Given the description of an element on the screen output the (x, y) to click on. 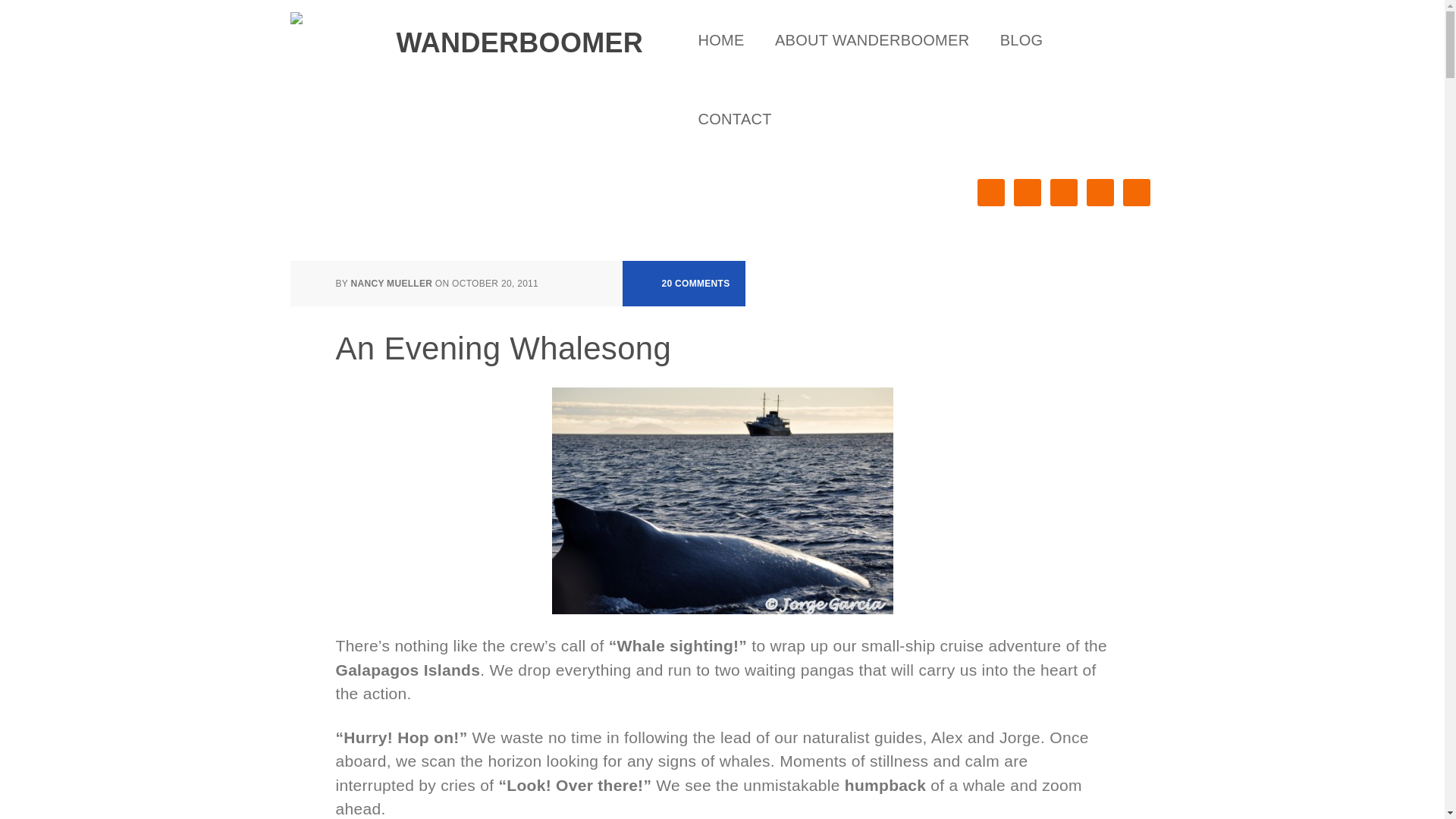
HOME (720, 39)
CONTACT (734, 118)
WANDERBOOMER (464, 33)
20 COMMENTS (683, 283)
BLOG (1022, 39)
ABOUT WANDERBOOMER (872, 39)
An Evening Whalesong (502, 348)
NANCY MUELLER (391, 283)
